Given the description of an element on the screen output the (x, y) to click on. 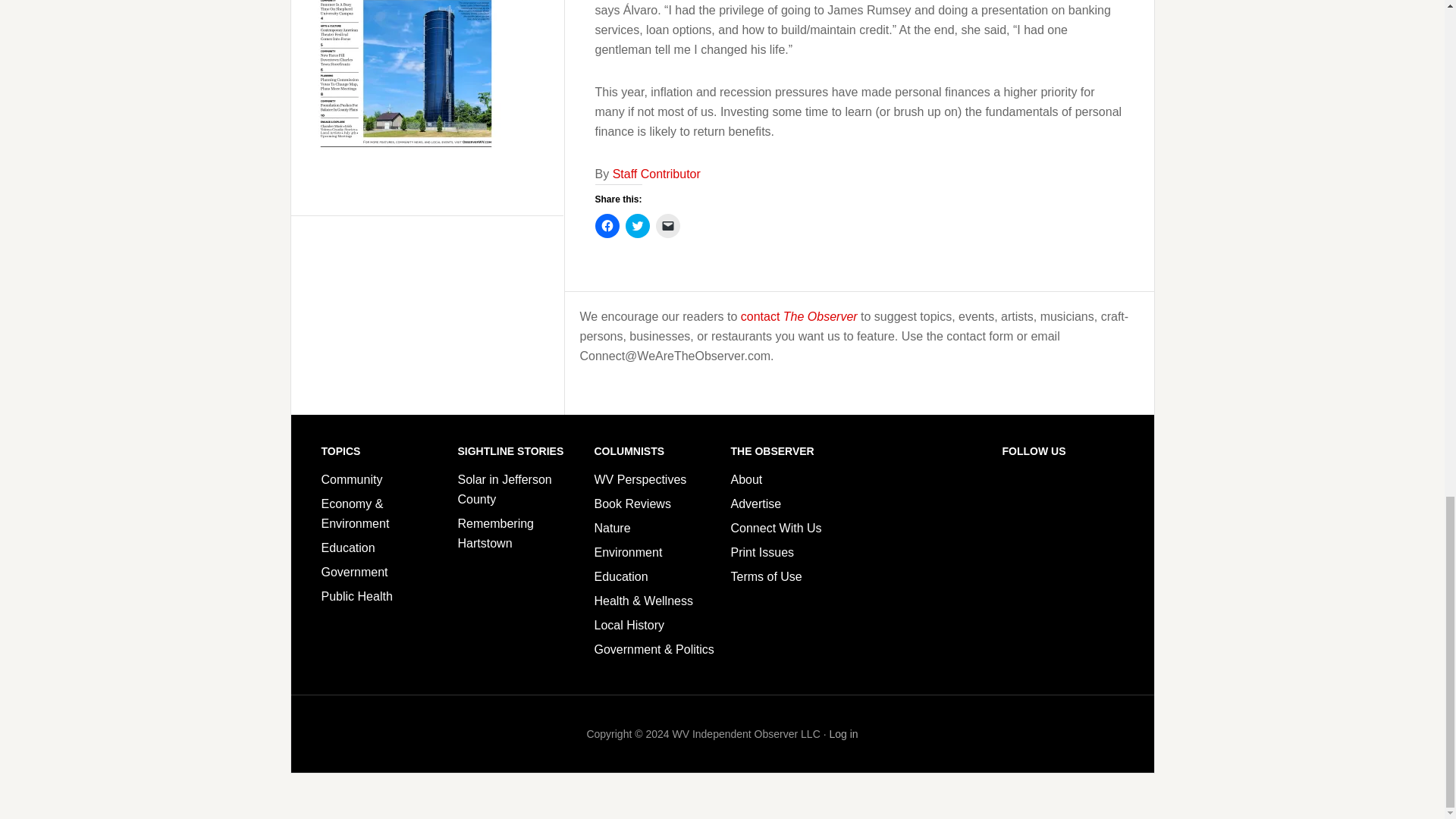
Click to share on Twitter (636, 225)
Click to email a link to a friend (667, 225)
Click to share on Facebook (606, 225)
